Given the description of an element on the screen output the (x, y) to click on. 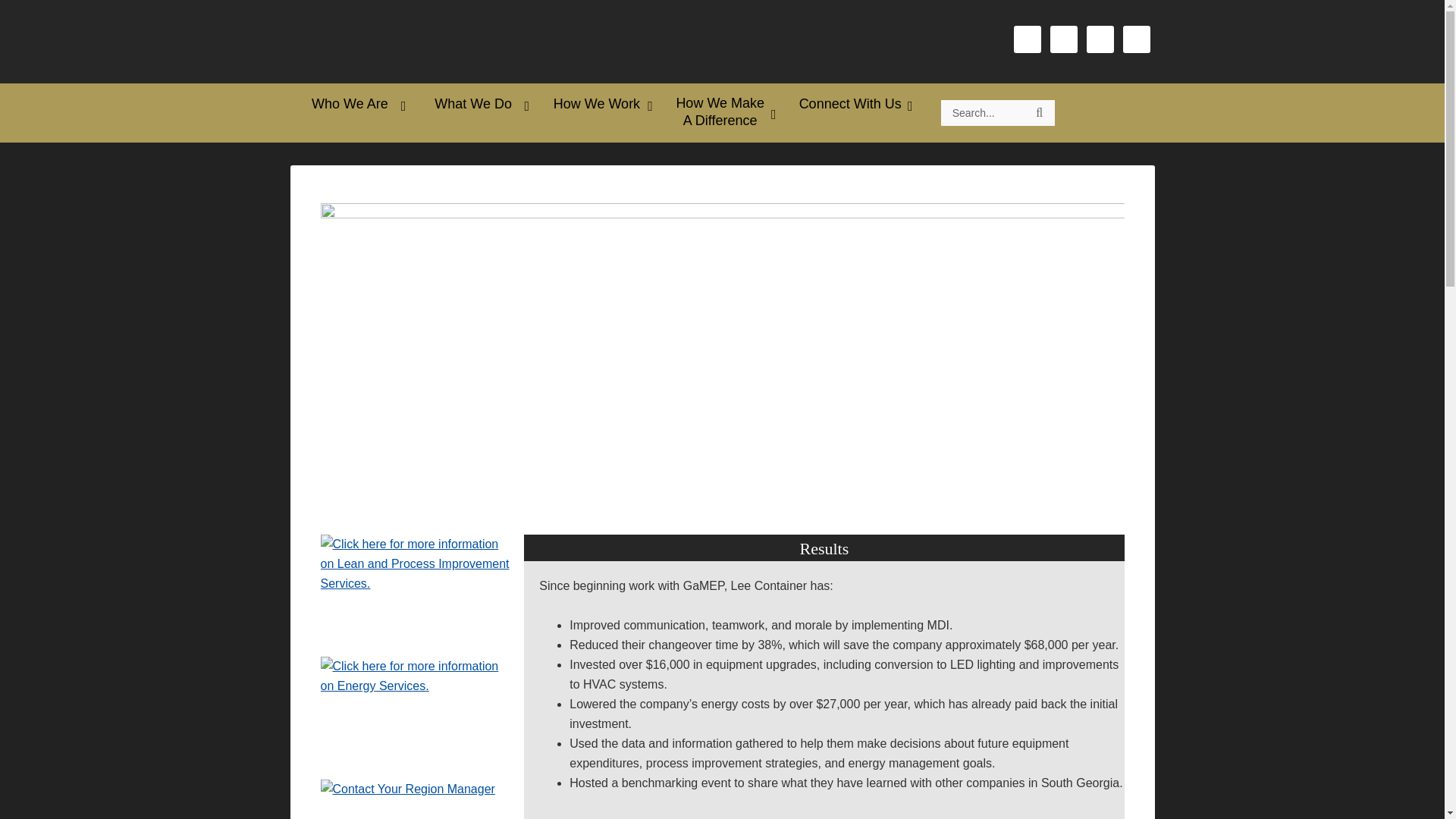
How We Make A Difference (722, 112)
Connect With Us (852, 103)
Who We Are (351, 103)
How We Work (599, 103)
What We Do (475, 103)
